Given the description of an element on the screen output the (x, y) to click on. 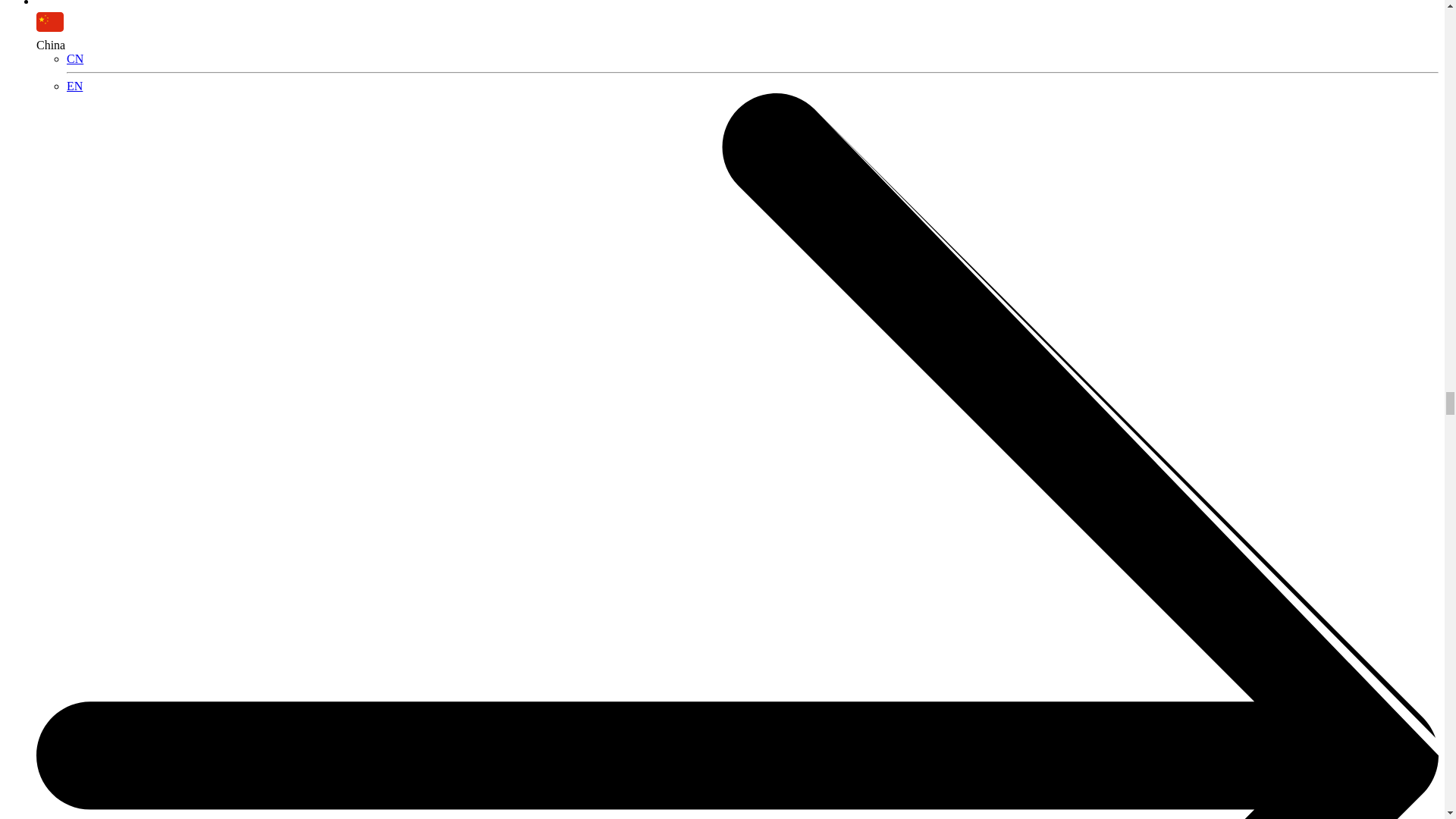
EN (74, 85)
CN (74, 58)
